Given the description of an element on the screen output the (x, y) to click on. 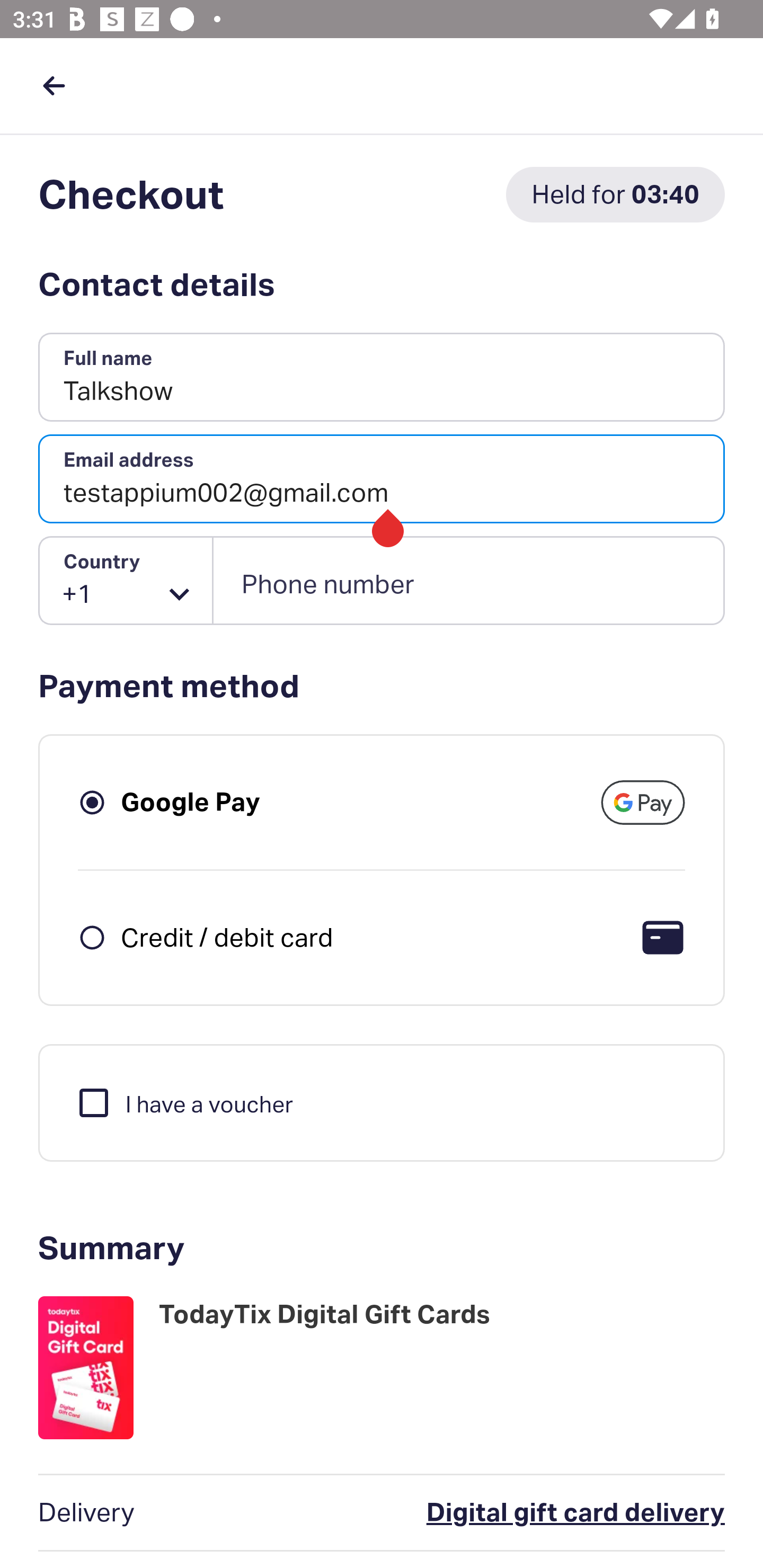
back button (53, 85)
Talkshow (381, 377)
testappium002@gmail.com (381, 478)
  +1 (126, 580)
Google Pay (190, 802)
Credit / debit card (227, 936)
I have a voucher (183, 1101)
Digital gift card delivery (495, 1512)
